Given the description of an element on the screen output the (x, y) to click on. 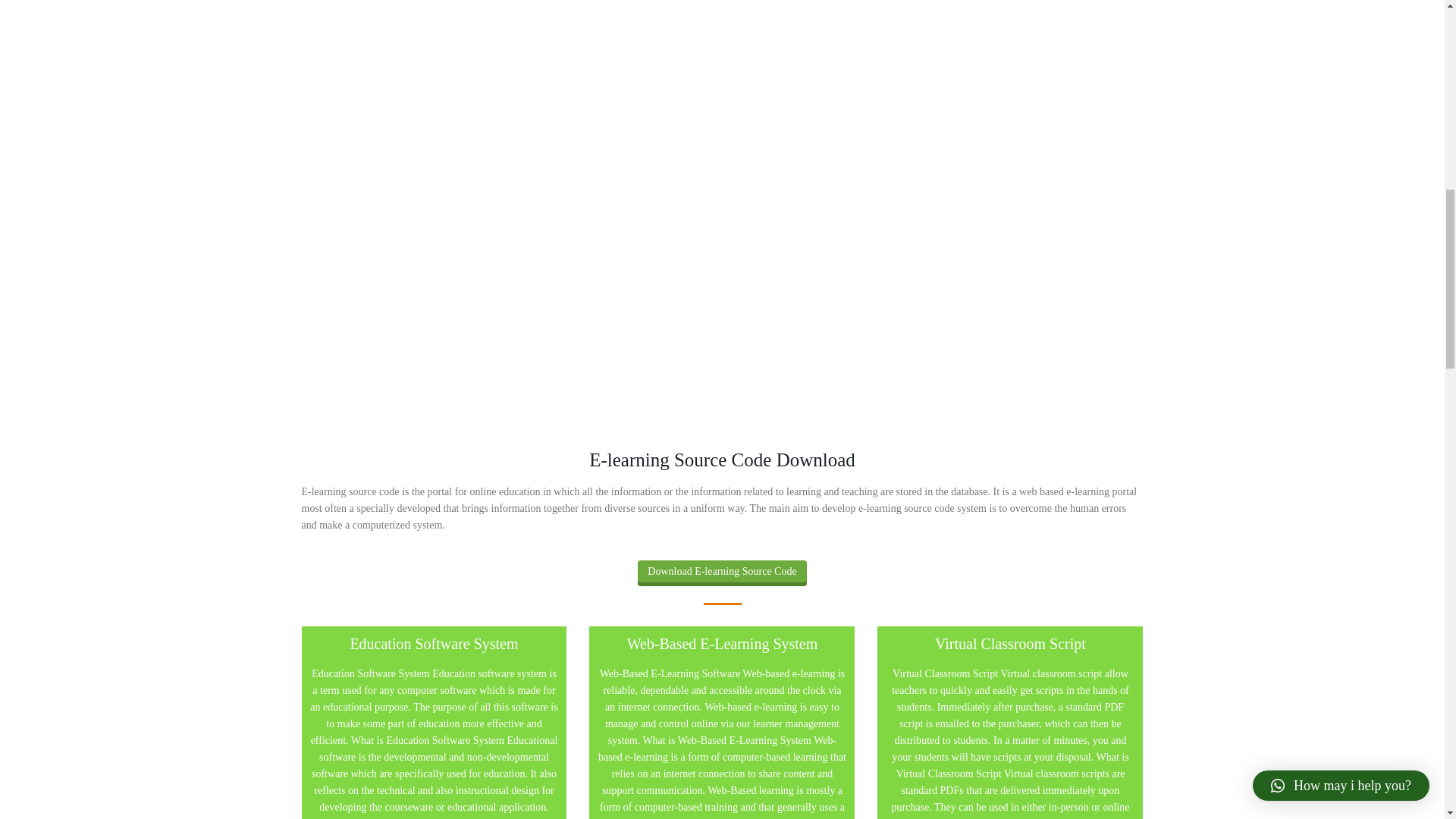
Education Software System (434, 722)
Web-Based E-Learning System (721, 743)
Virtual Classroom Script (1010, 743)
Web-Based E-Learning System (721, 722)
Education Software System (433, 743)
Virtual Classroom Script (1009, 722)
